Given the description of an element on the screen output the (x, y) to click on. 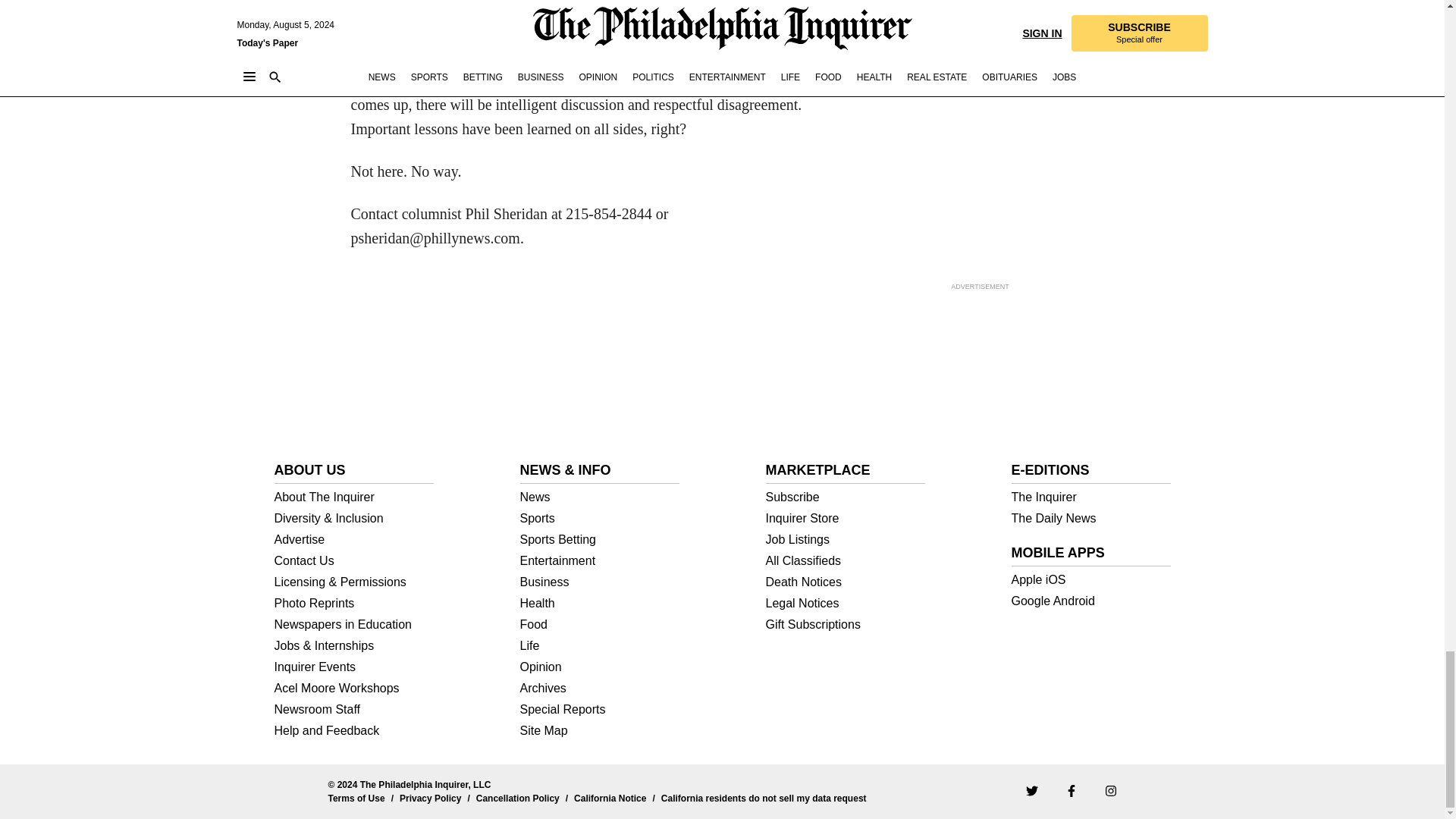
Facebook (1070, 789)
About The Inquirer (354, 497)
Twitter (1030, 789)
Advertise (354, 539)
Instagram (1109, 789)
Contact Us (354, 561)
